Given the description of an element on the screen output the (x, y) to click on. 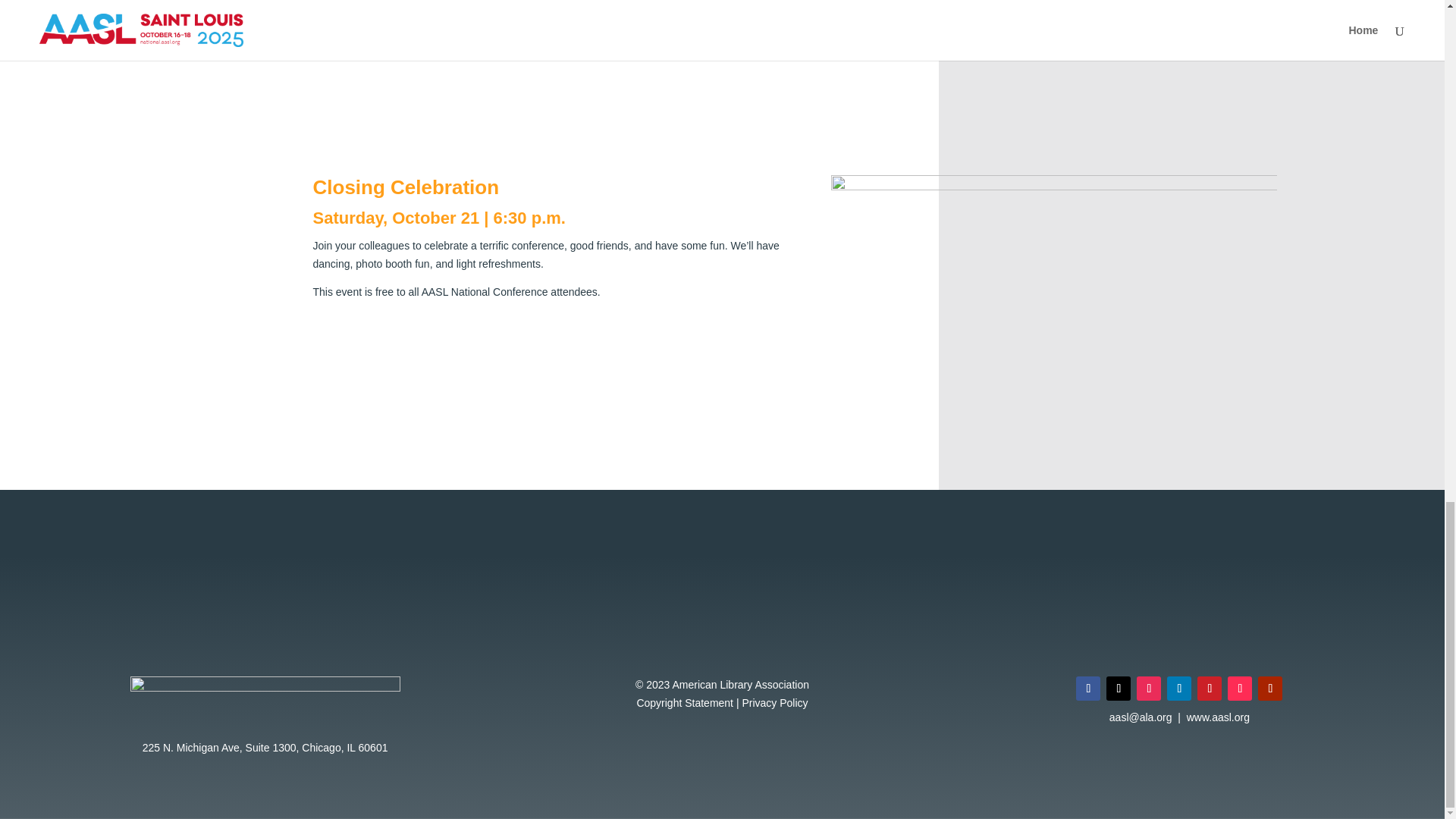
Copyright Statement (684, 702)
Follow on Pinterest (1208, 688)
Follow on Instagram (1148, 688)
Follow on Youtube (1269, 688)
Follow on LinkedIn (1179, 688)
Follow on Facebook (1087, 688)
Follow on X (1118, 688)
www.aasl.org (1217, 717)
Privacy Policy (774, 702)
Follow on TikTok (1239, 688)
